Given the description of an element on the screen output the (x, y) to click on. 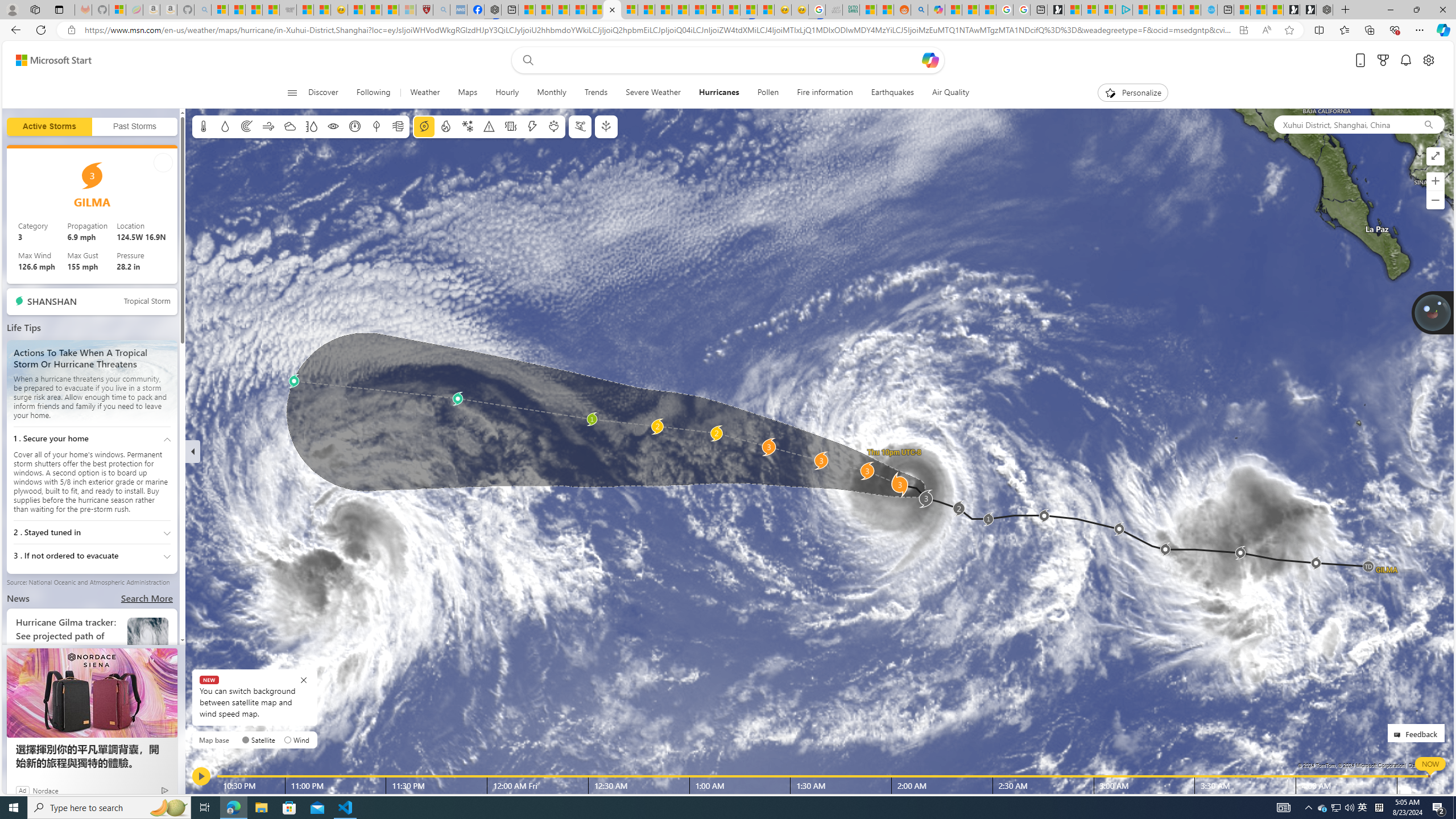
Zoom in (1435, 180)
Active Storms (49, 126)
Join us in planting real trees to help our planet! (1431, 311)
Lightning (532, 126)
